Given the description of an element on the screen output the (x, y) to click on. 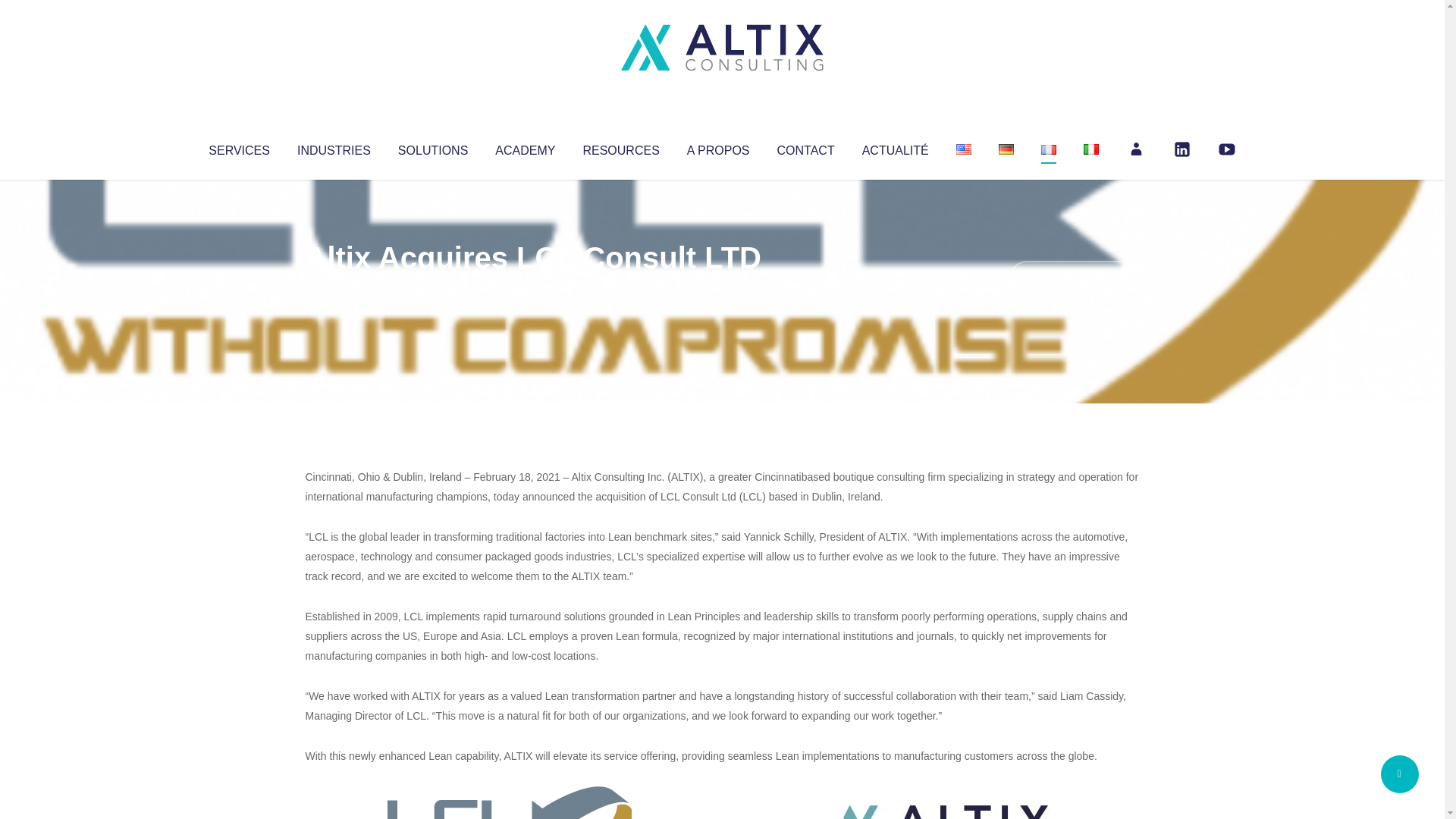
Uncategorized (530, 287)
Articles par Altix (333, 287)
SOLUTIONS (432, 146)
ACADEMY (524, 146)
RESOURCES (620, 146)
No Comments (1073, 278)
Altix (333, 287)
A PROPOS (718, 146)
INDUSTRIES (334, 146)
SERVICES (238, 146)
